Given the description of an element on the screen output the (x, y) to click on. 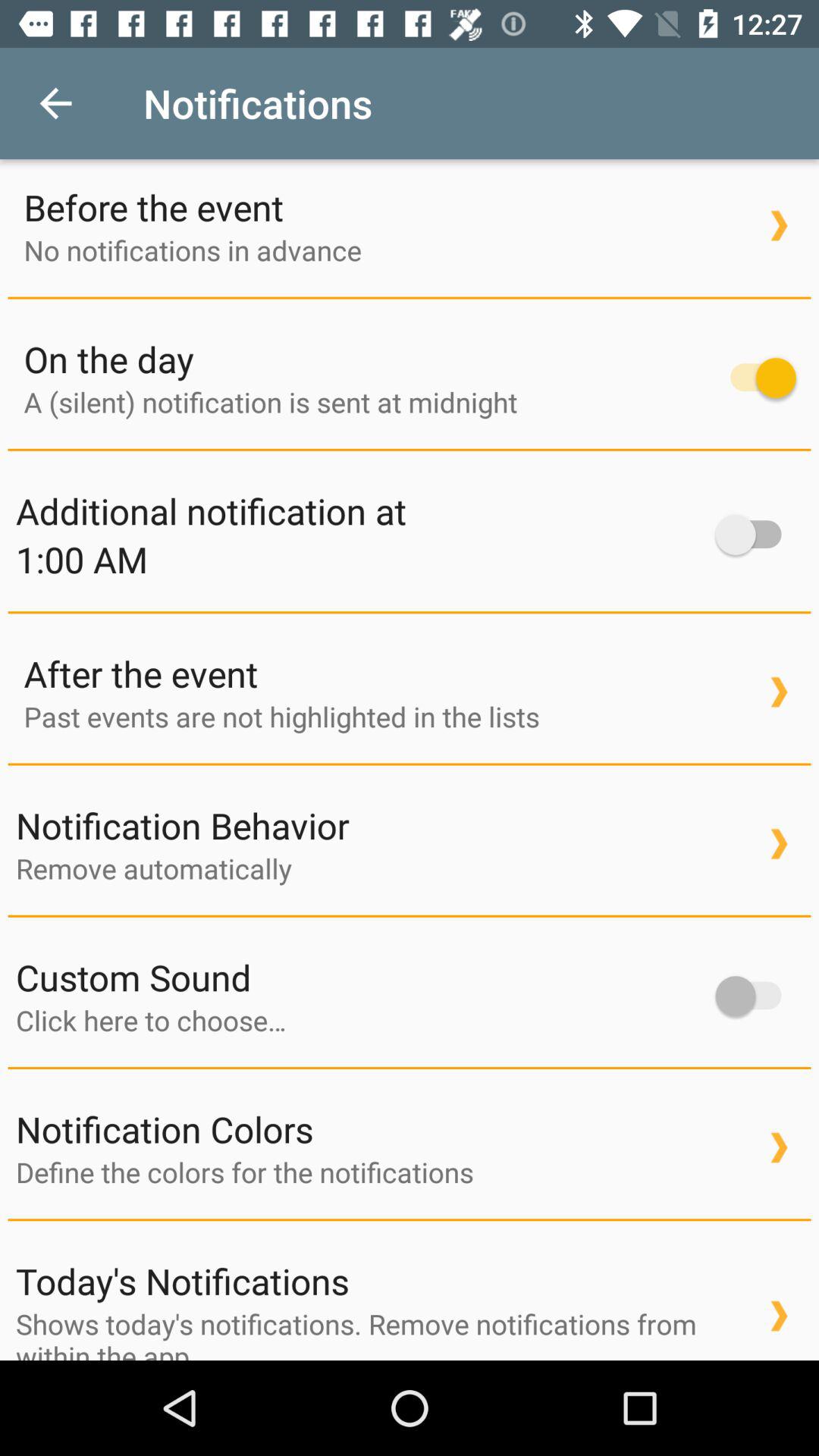
turn on notification (755, 534)
